Given the description of an element on the screen output the (x, y) to click on. 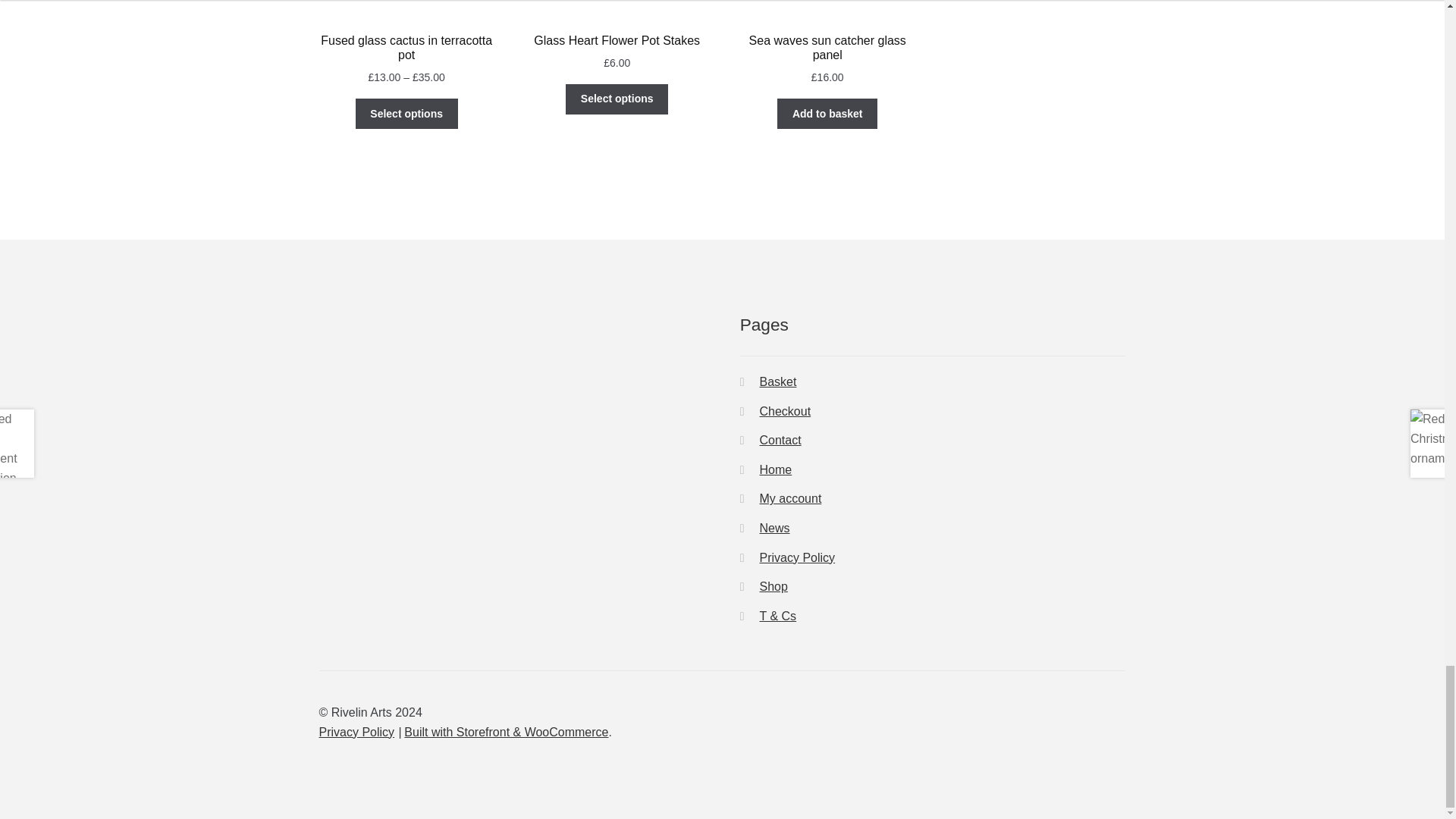
WooCommerce - The Best eCommerce Platform for WordPress (506, 731)
